Given the description of an element on the screen output the (x, y) to click on. 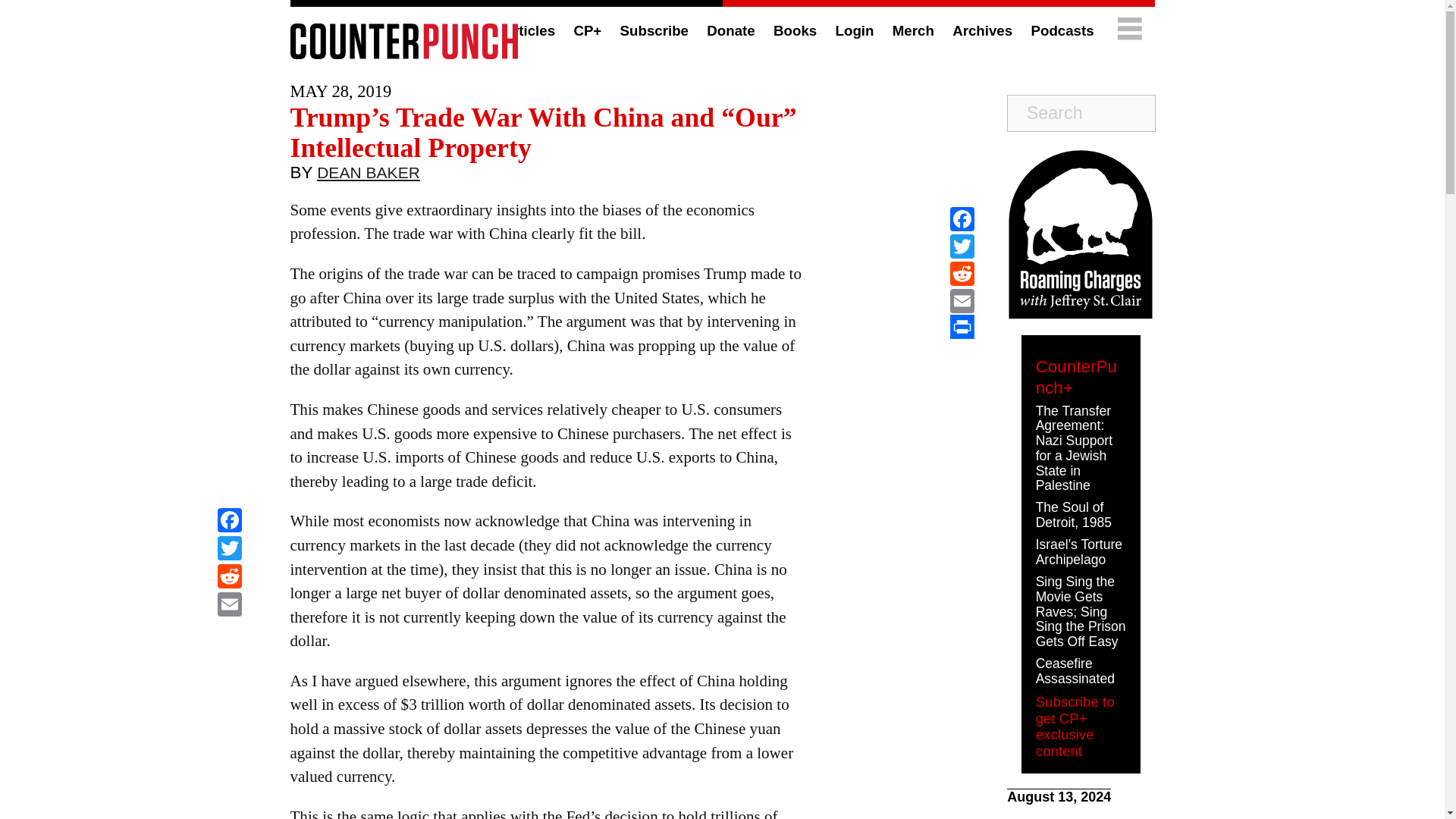
Facebook (962, 218)
Email (962, 300)
DEAN BAKER (368, 176)
Reddit (229, 578)
Ceasefire Assassinated (1075, 671)
Facebook (229, 521)
Reddit (962, 273)
Reddit (229, 578)
Books (794, 30)
